Given the description of an element on the screen output the (x, y) to click on. 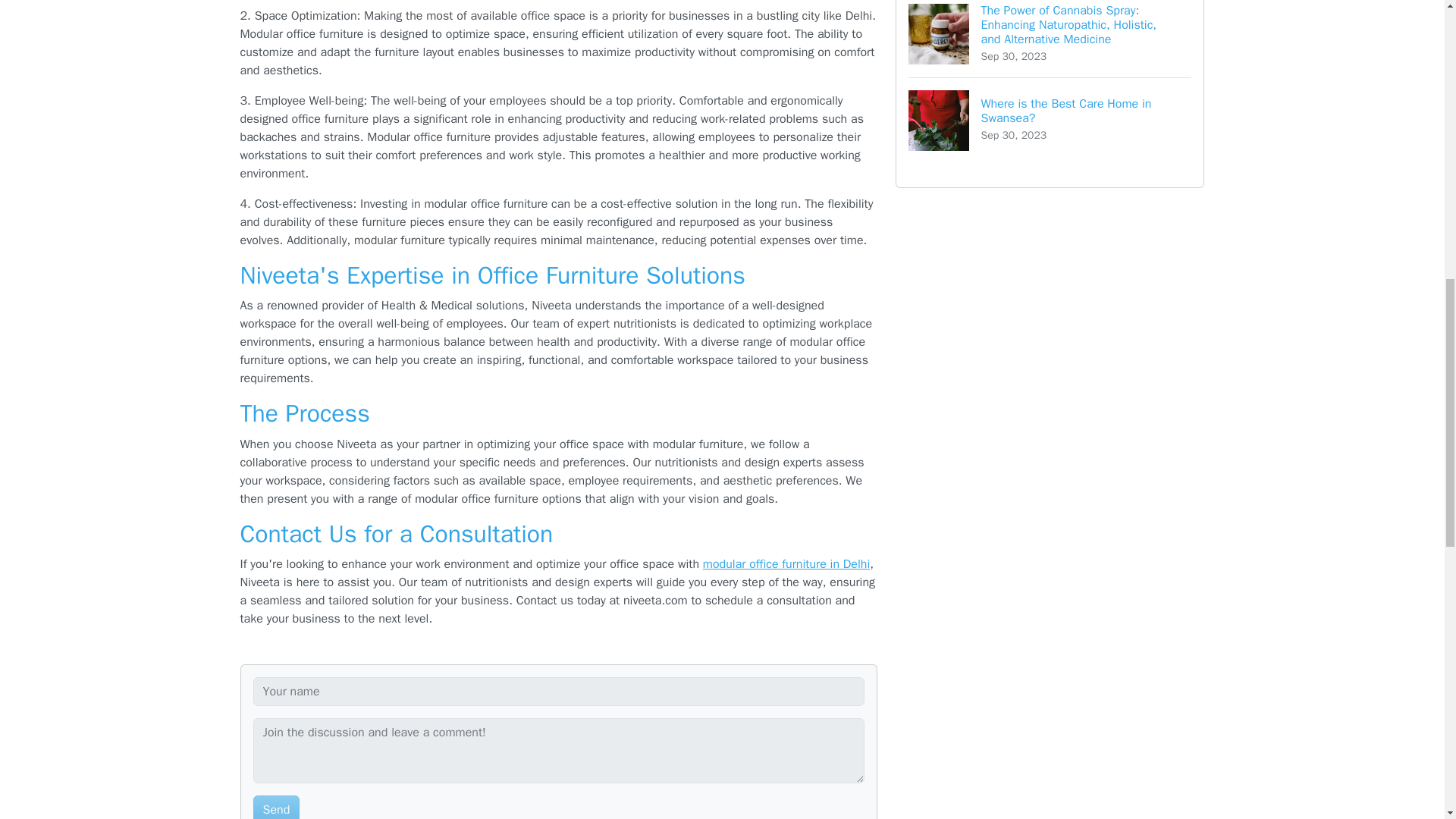
Send (276, 807)
modular office furniture in Delhi (786, 563)
Send (276, 807)
